Given the description of an element on the screen output the (x, y) to click on. 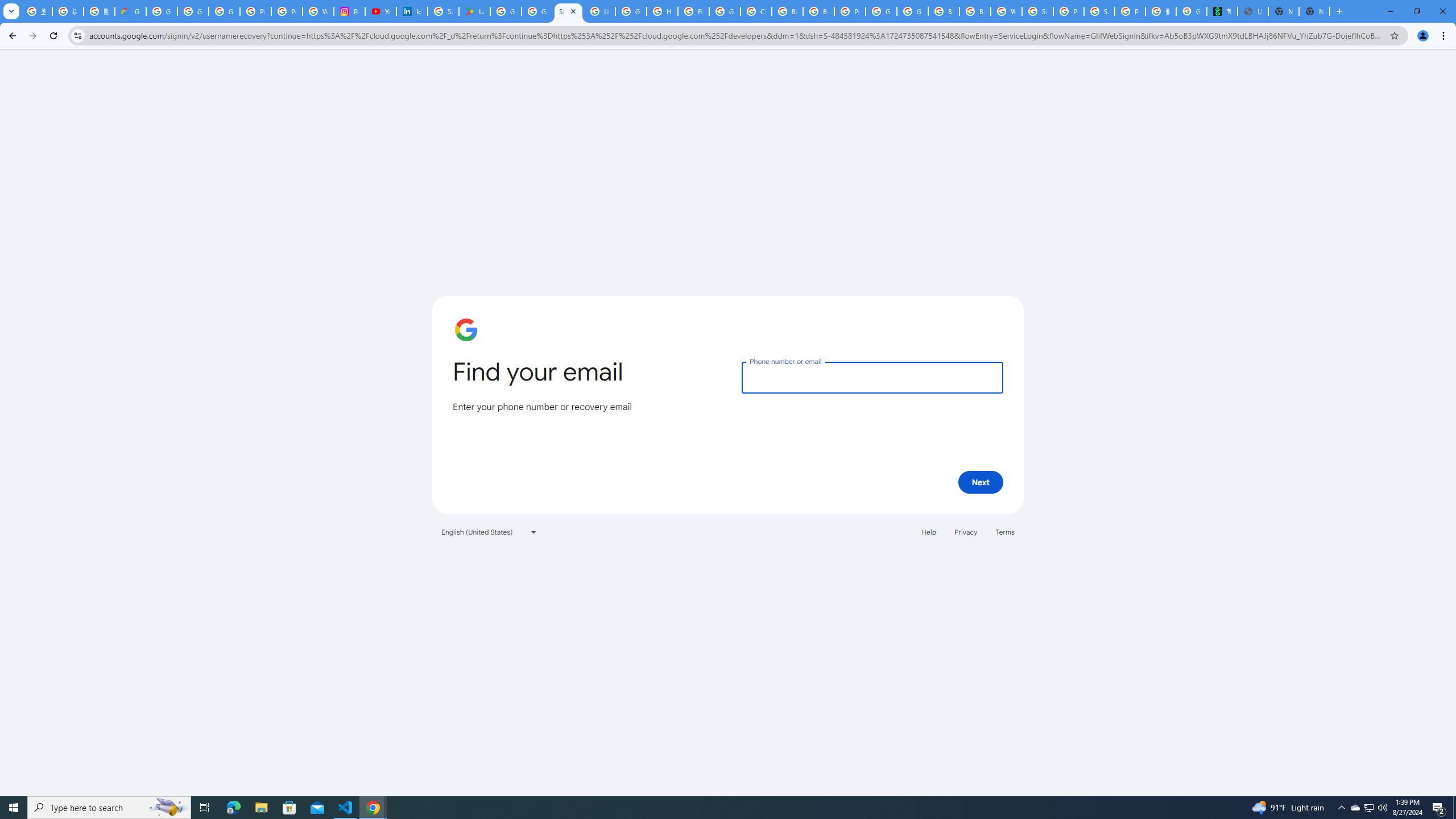
Browse Chrome as a guest - Computer - Google Chrome Help (974, 11)
Google Workspace - Specific Terms (536, 11)
Untitled (1252, 11)
Browse Chrome as a guest - Computer - Google Chrome Help (787, 11)
Address and search bar (735, 35)
Phone number or email (871, 376)
Last Shelter: Survival - Apps on Google Play (474, 11)
Browse Chrome as a guest - Computer - Google Chrome Help (943, 11)
